Given the description of an element on the screen output the (x, y) to click on. 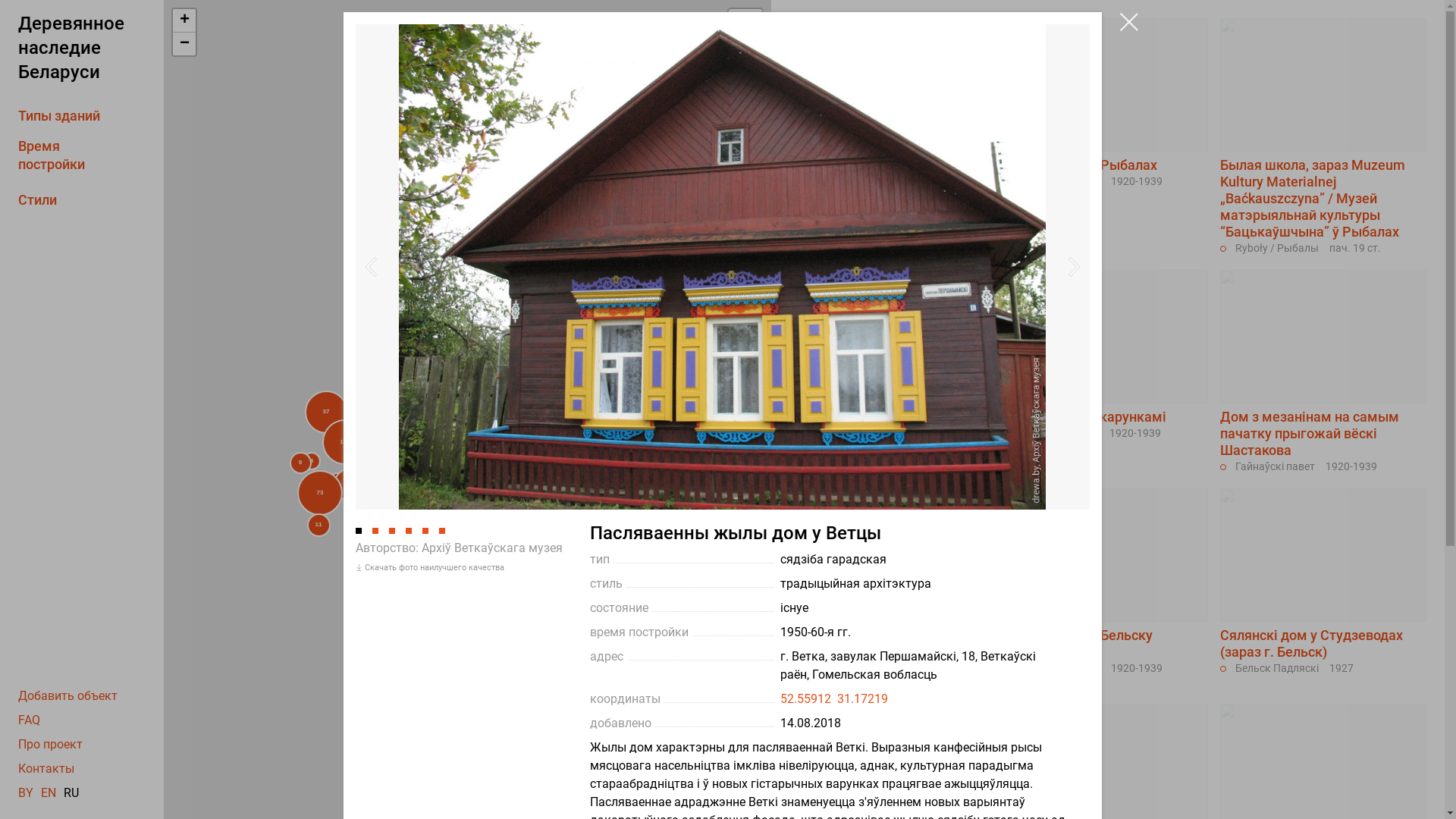
Leaflet Element type: text (689, 812)
BY Element type: text (25, 792)
EN Element type: text (48, 792)
Layers Element type: hover (745, 25)
+ Element type: text (183, 20)
FAQ Element type: text (90, 720)
RU Element type: text (70, 792)
Yandex.Maps Element type: text (742, 812)
52.55912  31.17219 Element type: text (834, 698)
